Given the description of an element on the screen output the (x, y) to click on. 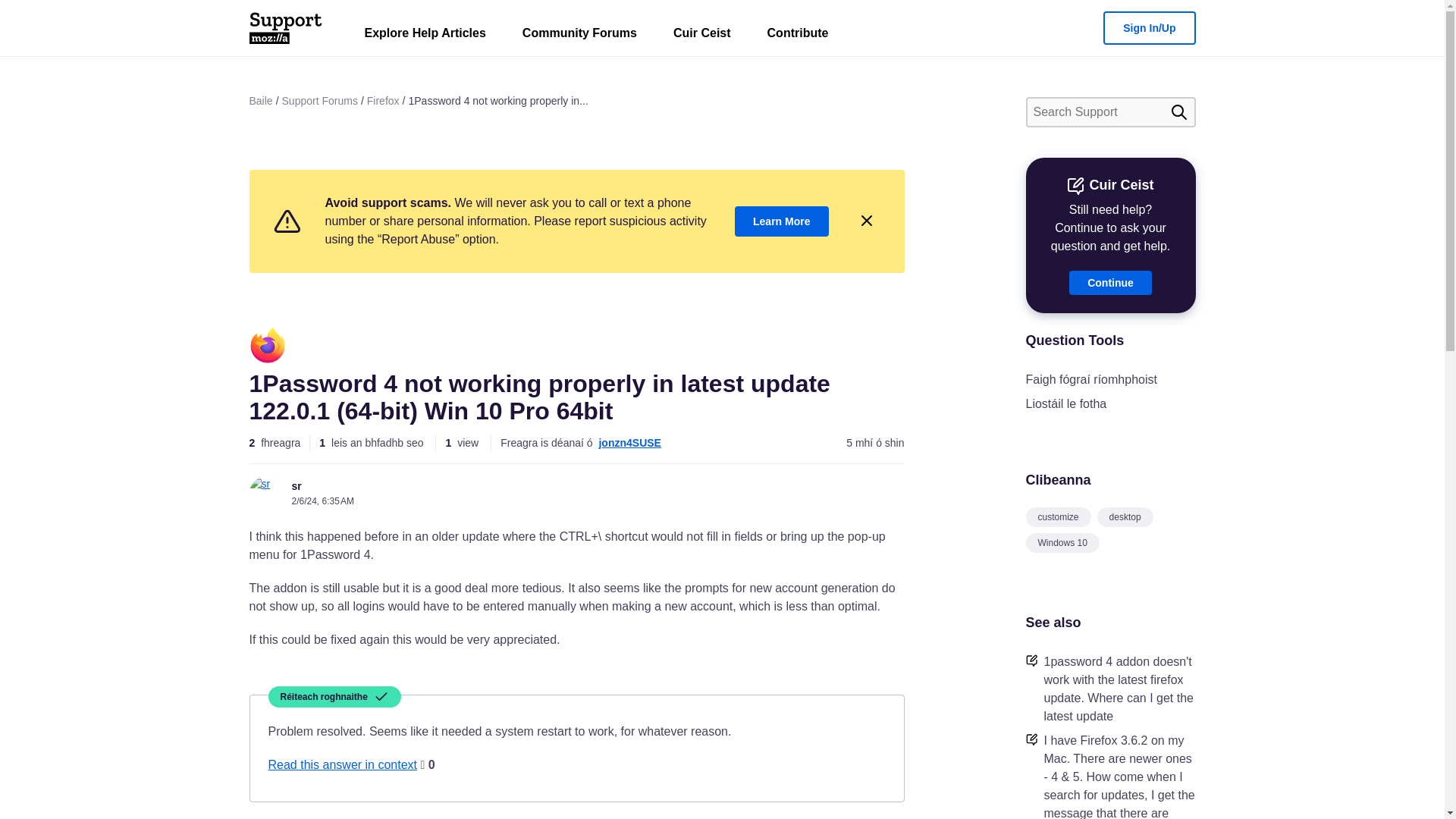
Community Forums (579, 37)
Cuir Ceist (702, 37)
Explore Help Articles (424, 37)
Cuardaigh (1178, 111)
